Given the description of an element on the screen output the (x, y) to click on. 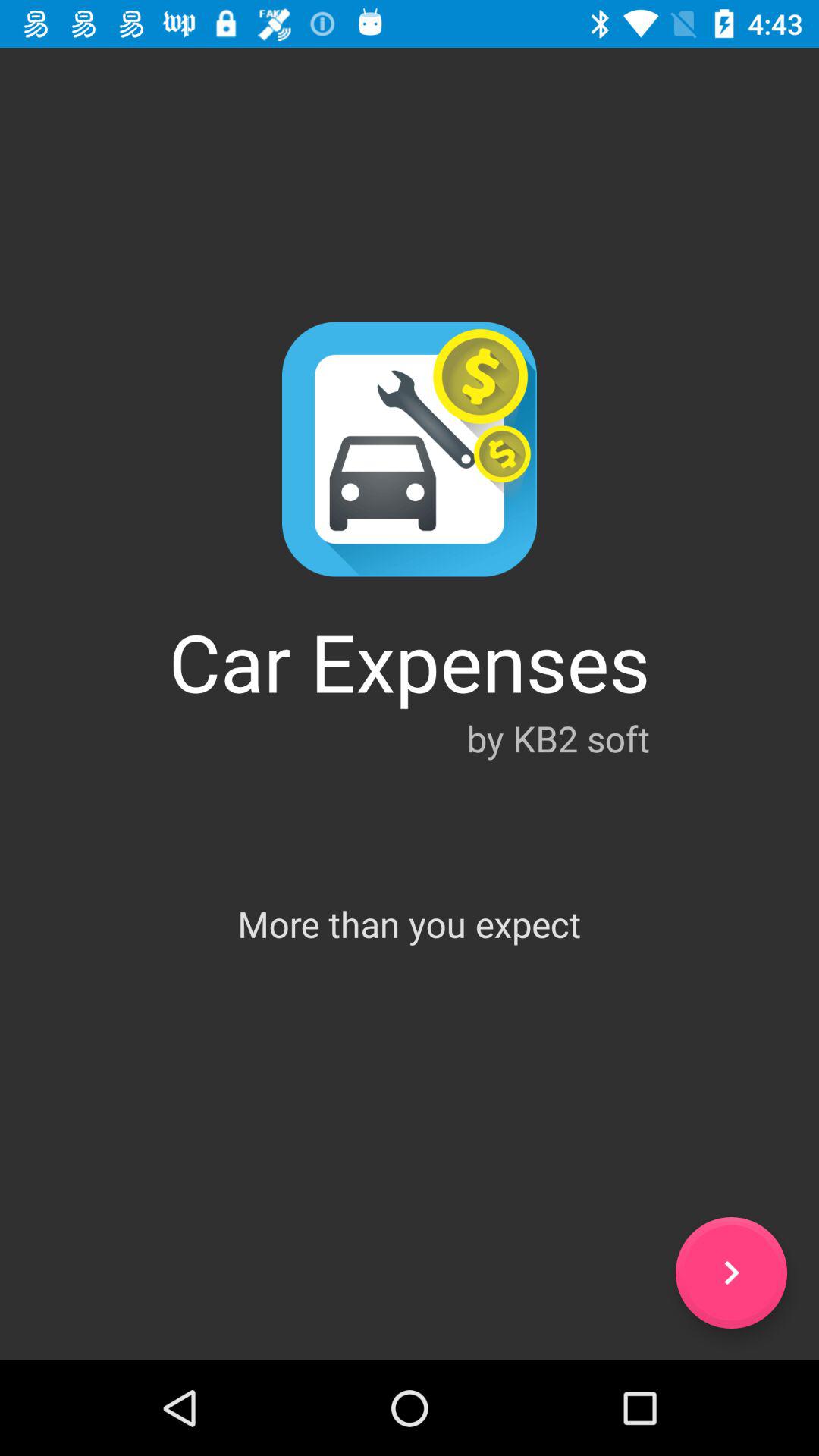
select the icon at the bottom right corner (731, 1272)
